Given the description of an element on the screen output the (x, y) to click on. 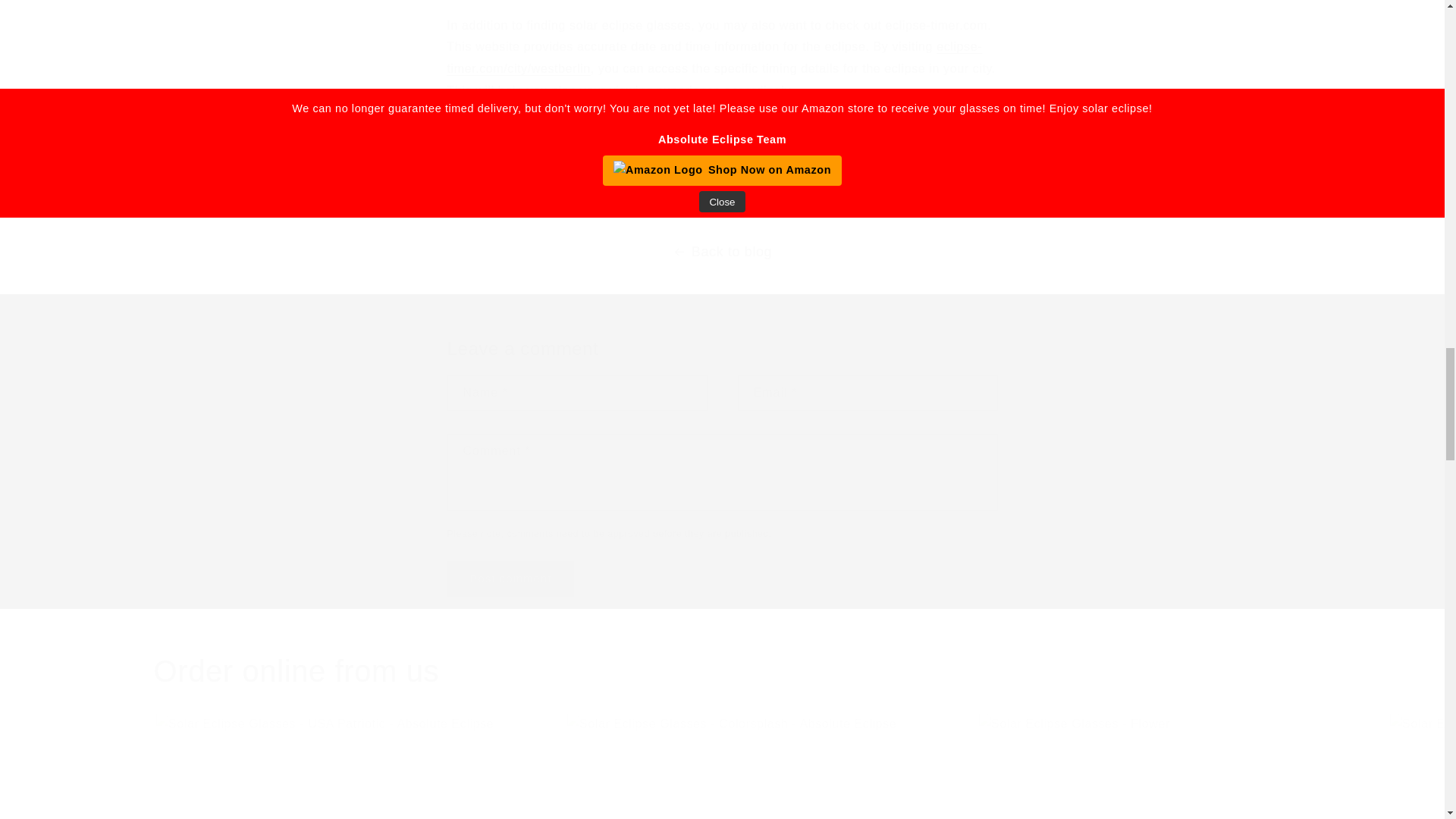
Post comment (1181, 764)
Order online from us (510, 579)
